Given the description of an element on the screen output the (x, y) to click on. 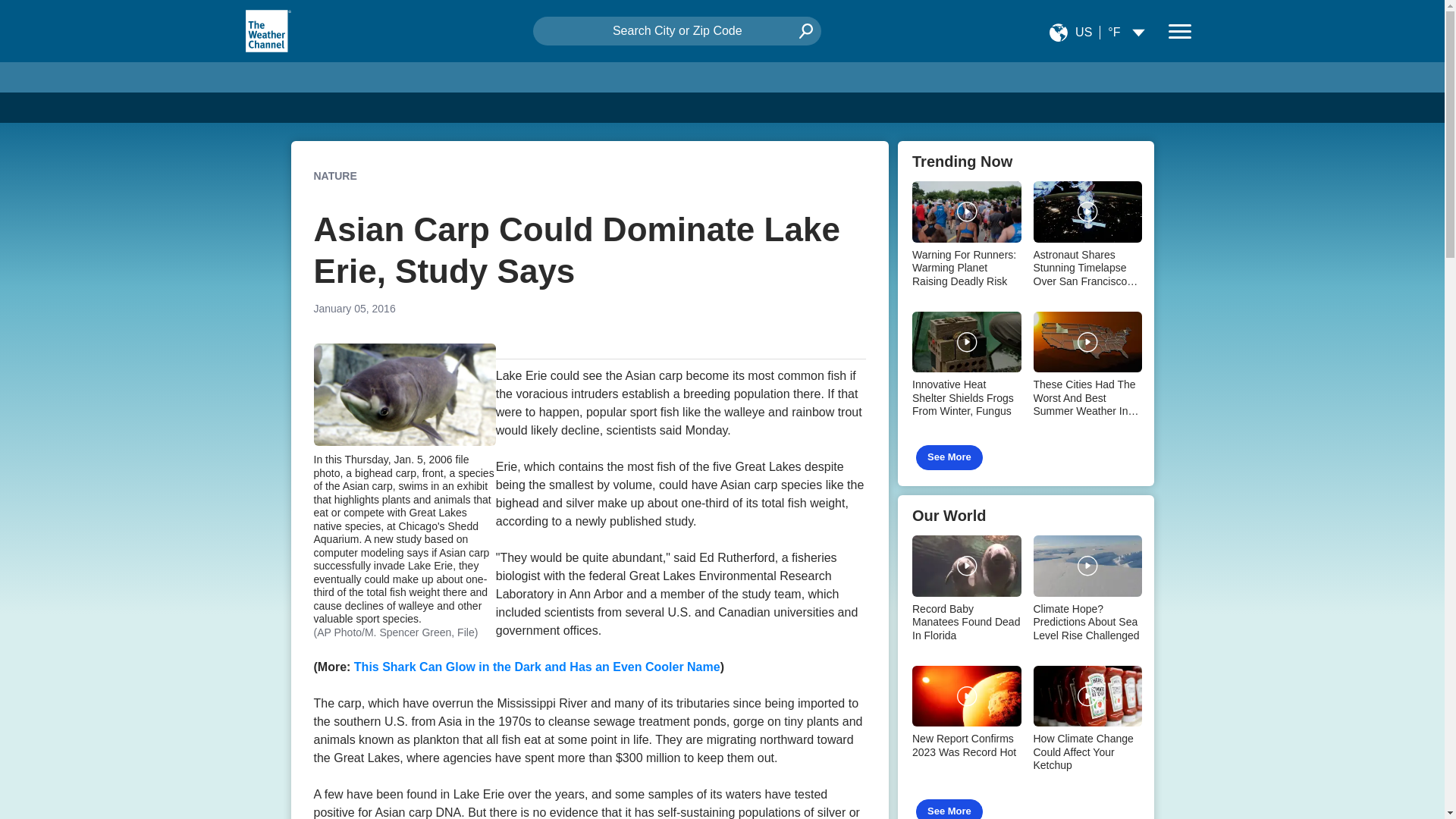
How Climate Change Could Affect Your Ketchup (1086, 720)
This Shark Can Glow in the Dark and Has an Even Cooler Name (536, 666)
The Weather Channel (267, 30)
Climate Hope? Predictions About Sea Level Rise Challenged (1086, 590)
The Weather Channel (268, 31)
Record Baby Manatees Found Dead In Florida (965, 590)
These Cities Had The Worst And Best Summer Weather In 2024 (1086, 367)
Warning For Runners: Warming Planet Raising Deadly Risk (965, 235)
Innovative Heat Shelter Shields Frogs From Winter, Fungus (965, 367)
New Report Confirms 2023 Was Record Hot (965, 713)
